Given the description of an element on the screen output the (x, y) to click on. 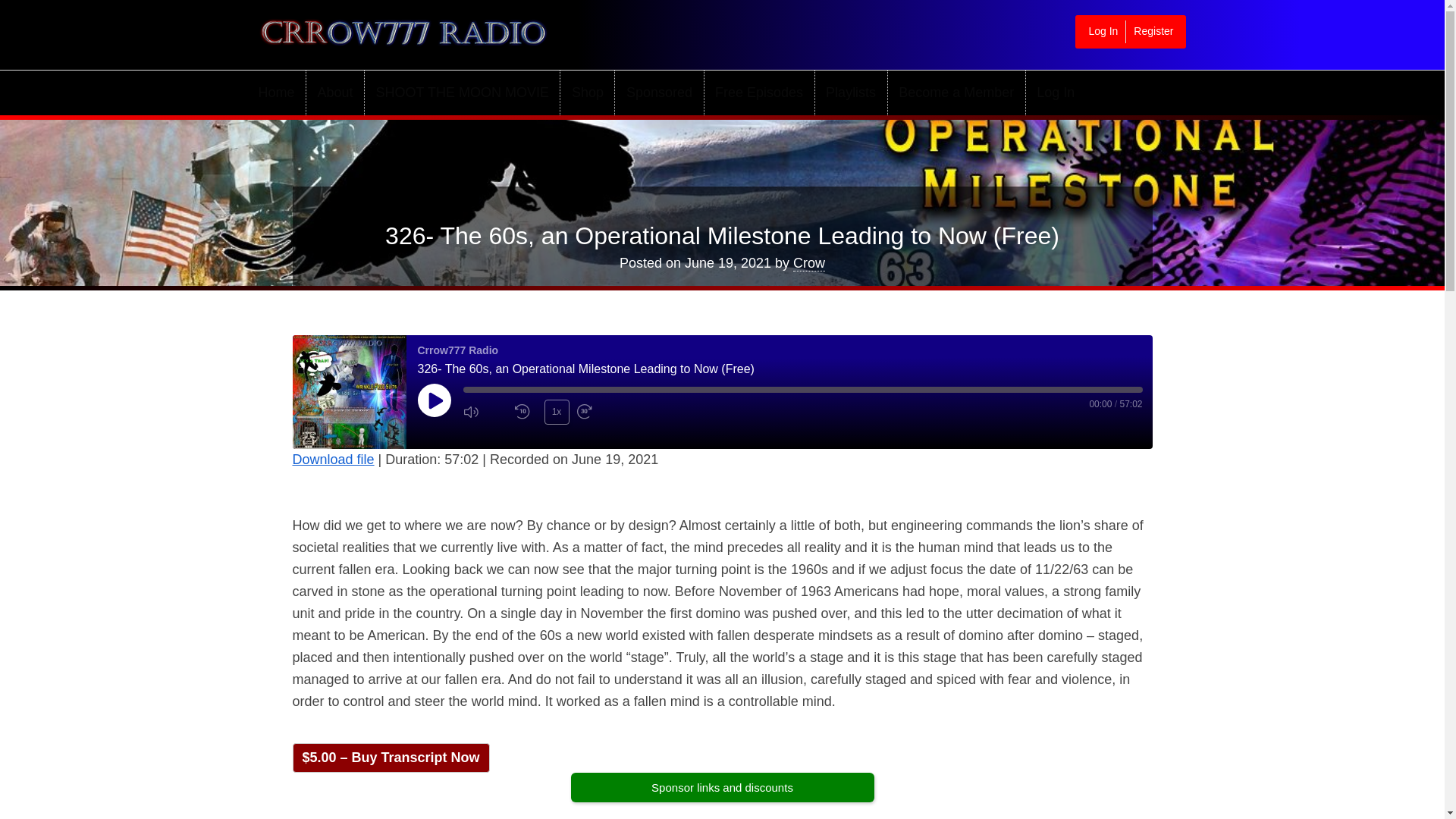
About (334, 92)
Crrow777 Radio (344, 26)
Home (281, 92)
Rewind 10 seconds (524, 412)
Download file (333, 459)
Play (432, 400)
Crow (809, 263)
Playback Speed (556, 412)
Shop (586, 92)
